Given the description of an element on the screen output the (x, y) to click on. 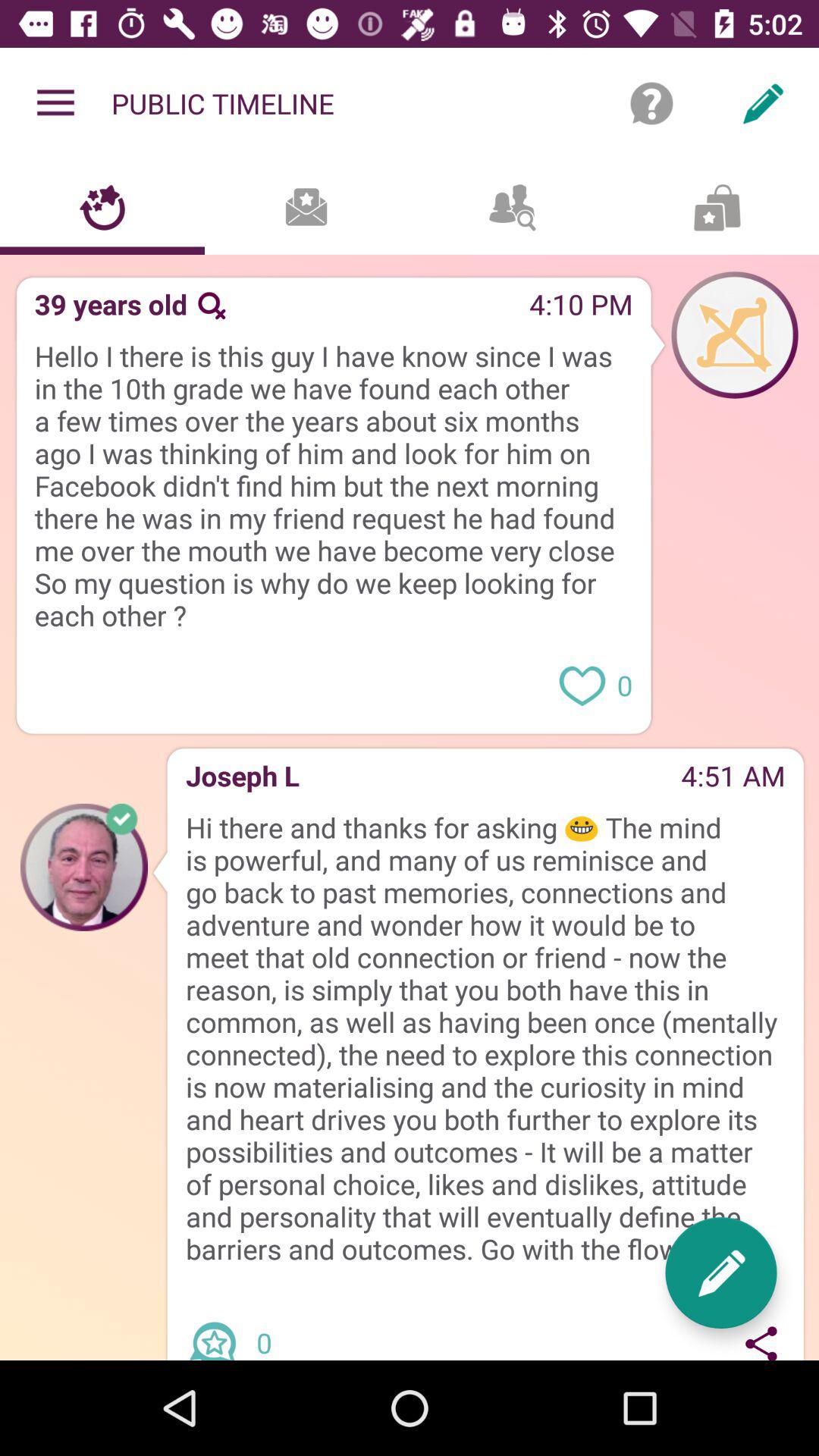
press item to the left of the joseph l icon (83, 867)
